Given the description of an element on the screen output the (x, y) to click on. 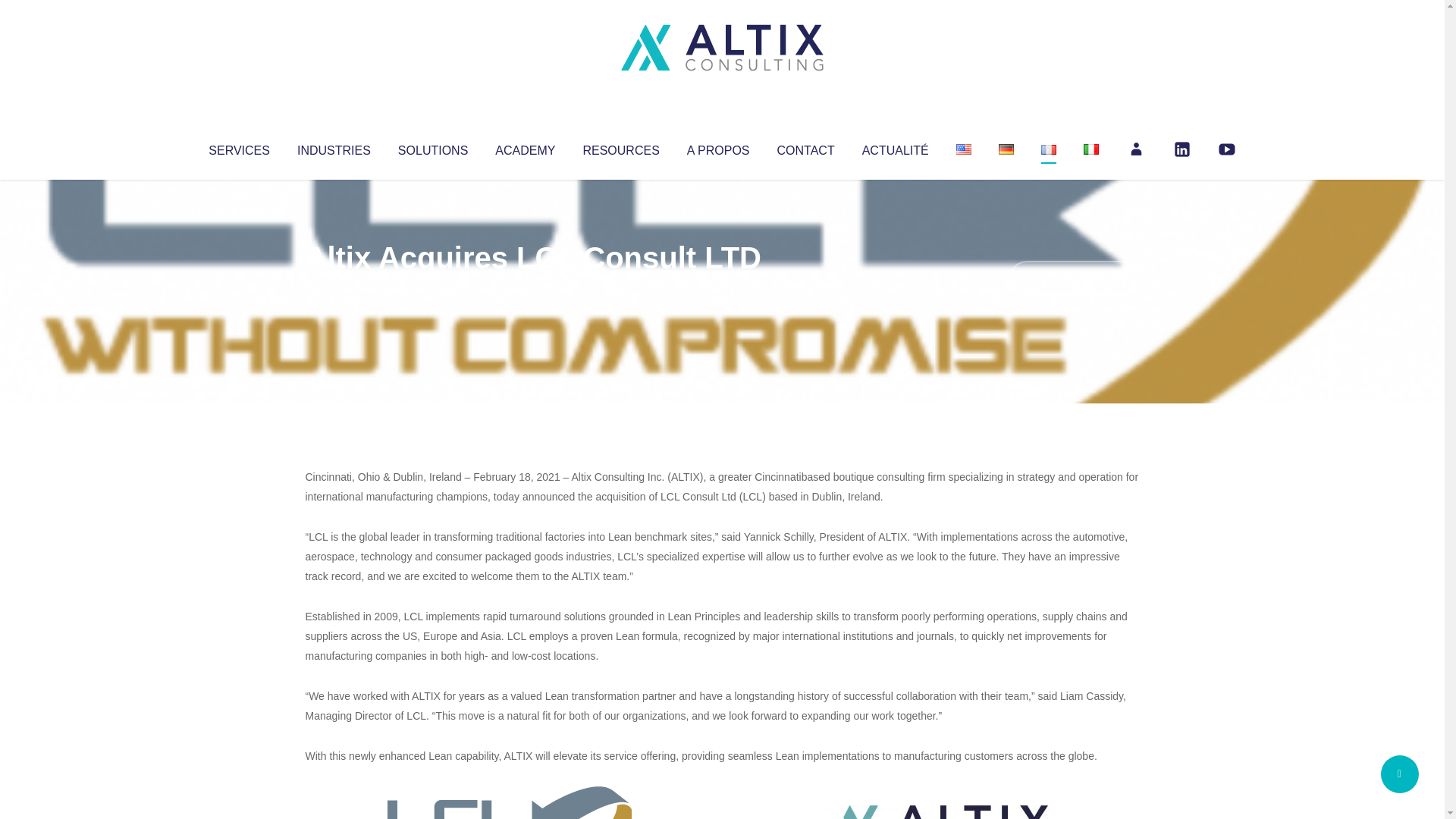
Uncategorized (530, 287)
No Comments (1073, 278)
INDUSTRIES (334, 146)
Articles par Altix (333, 287)
A PROPOS (718, 146)
Altix (333, 287)
SERVICES (238, 146)
RESOURCES (620, 146)
ACADEMY (524, 146)
SOLUTIONS (432, 146)
